Given the description of an element on the screen output the (x, y) to click on. 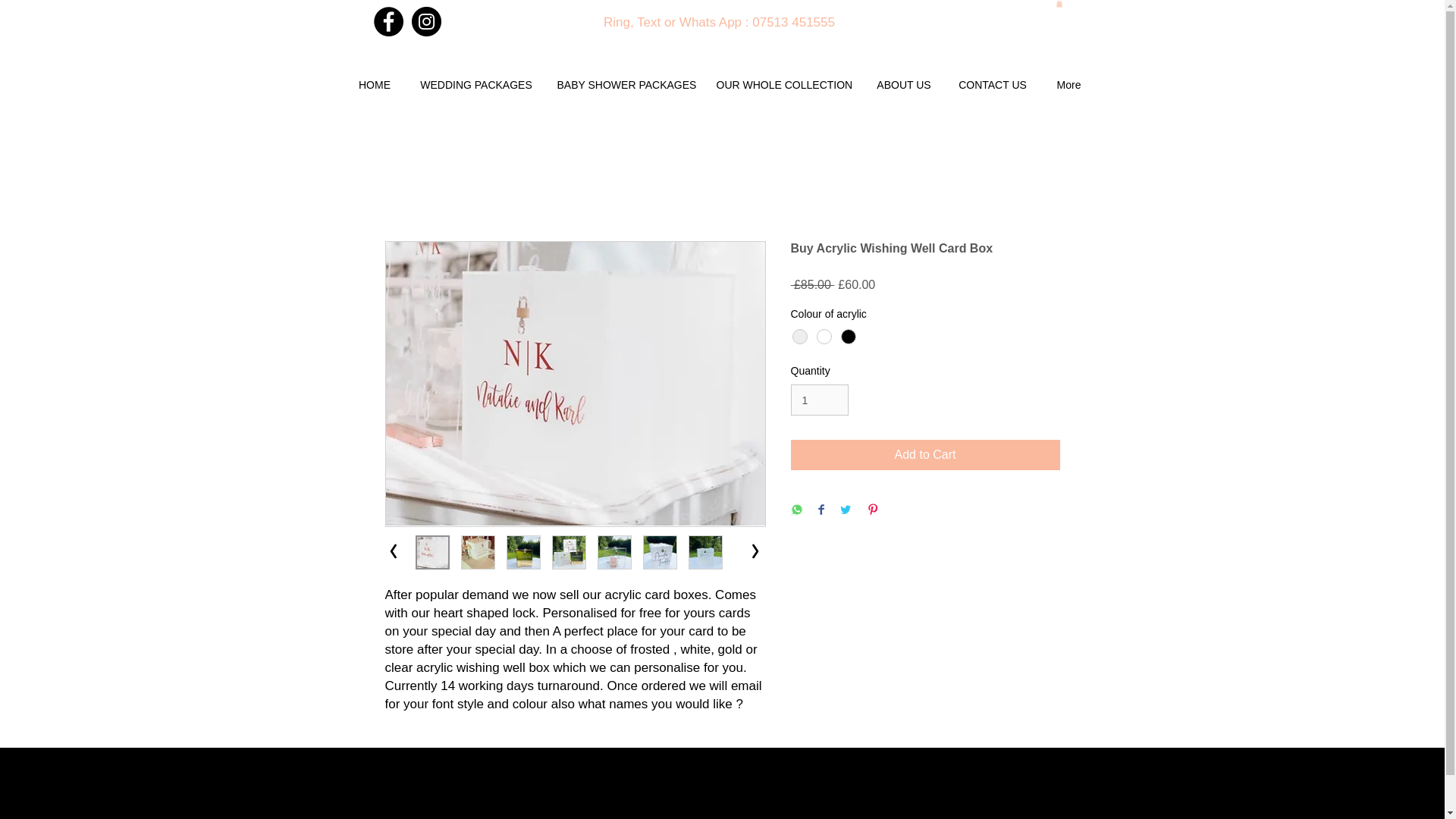
1 (818, 399)
HOME (374, 84)
WEDDING PACKAGES (475, 84)
BABY SHOWER PACKAGES (625, 84)
CONTACT US (992, 84)
OUR WHOLE COLLECTION (783, 84)
Add to Cart (924, 454)
ABOUT US (903, 84)
